Given the description of an element on the screen output the (x, y) to click on. 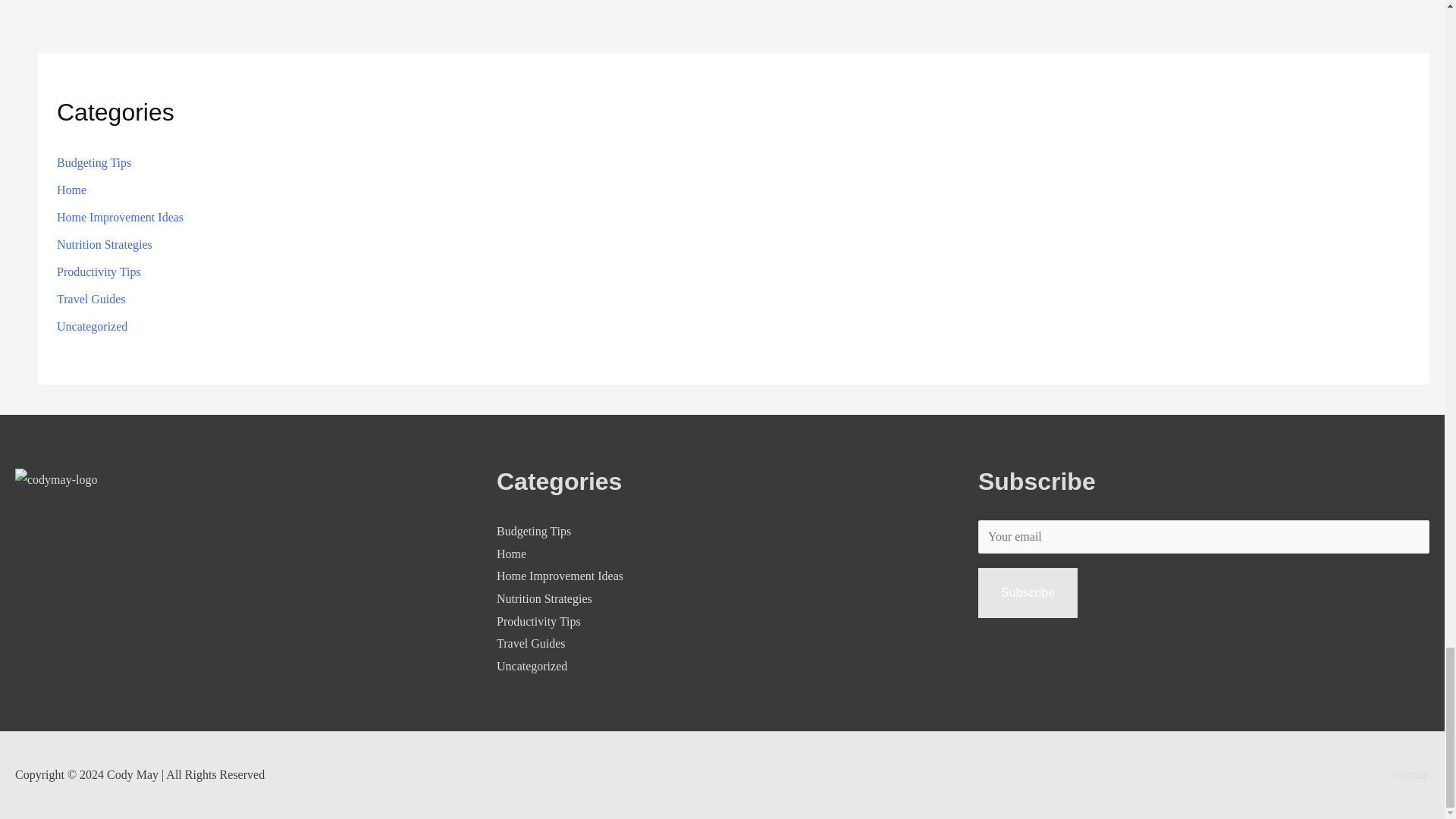
Travel Guides (90, 298)
Uncategorized (531, 666)
Home (70, 189)
Productivity Tips (98, 271)
Home Improvement Ideas (559, 575)
Subscribe (1027, 593)
Subscribe (1027, 593)
Home Improvement Ideas (119, 216)
Productivity Tips (538, 621)
Nutrition Strategies (104, 244)
Home (510, 553)
Travel Guides (531, 643)
Uncategorized (92, 326)
Budgeting Tips (93, 162)
Nutrition Strategies (544, 598)
